Given the description of an element on the screen output the (x, y) to click on. 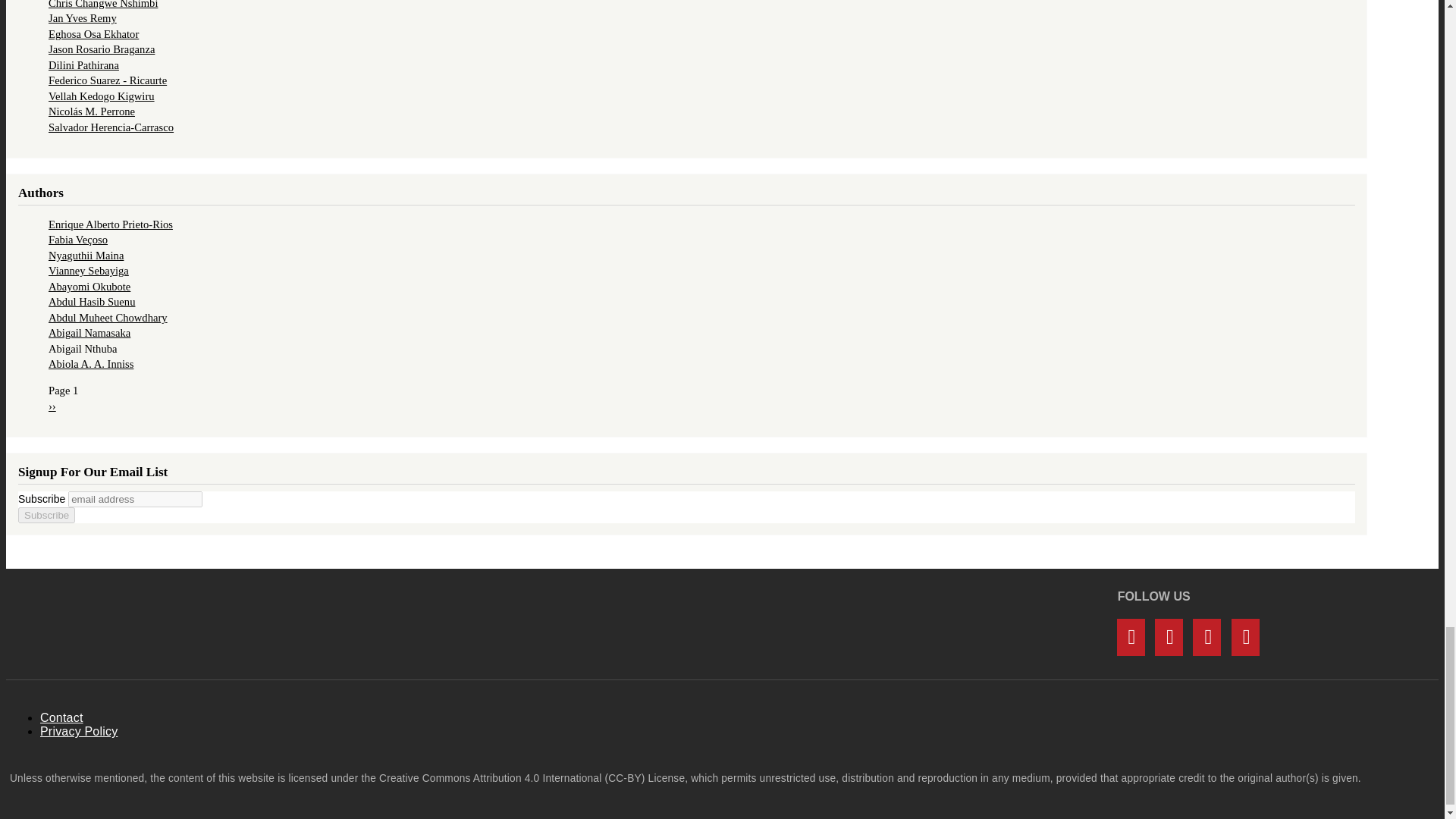
Subscribe (46, 514)
